Given the description of an element on the screen output the (x, y) to click on. 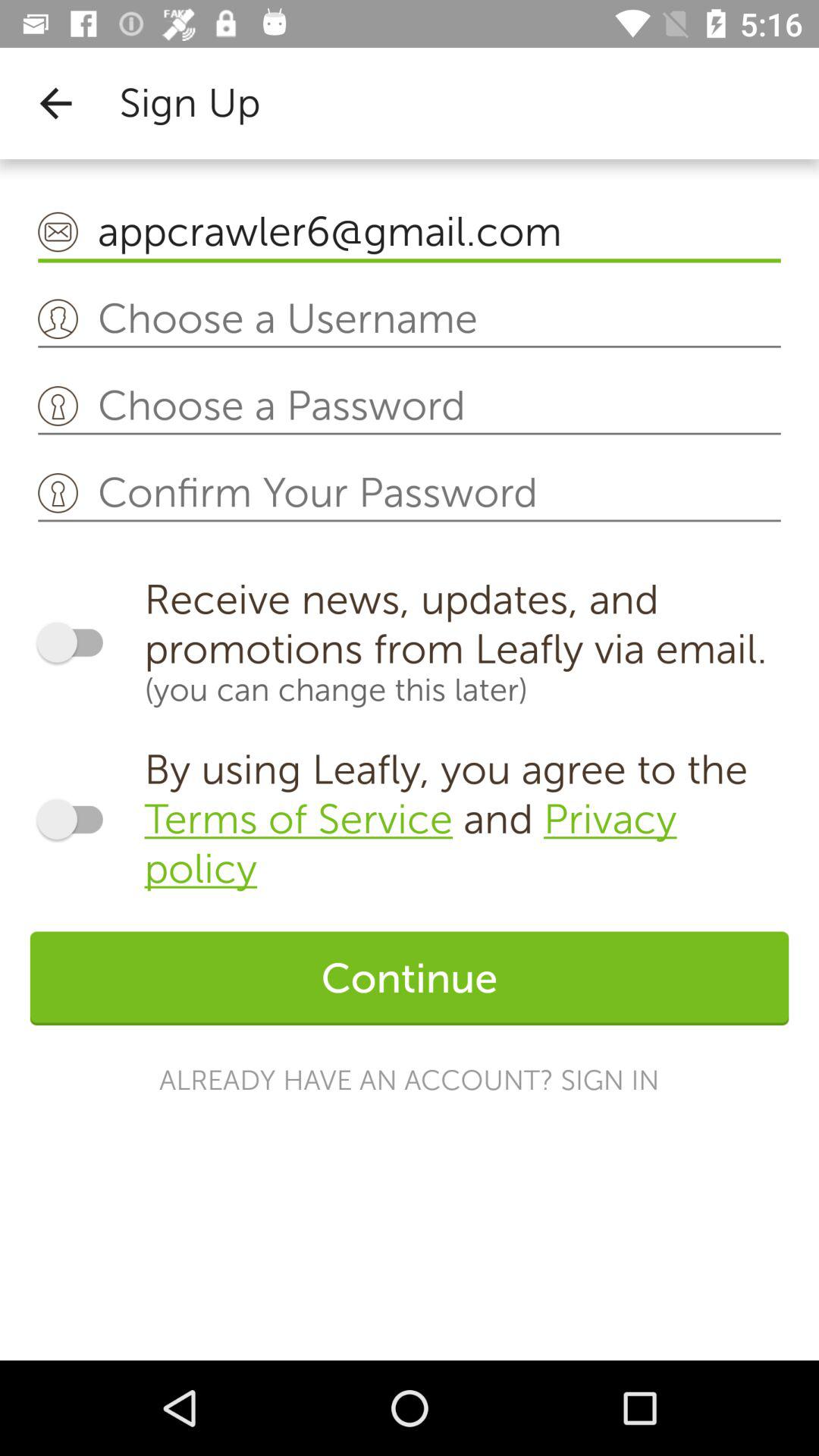
agree to terms of service and privacy policy (77, 819)
